Given the description of an element on the screen output the (x, y) to click on. 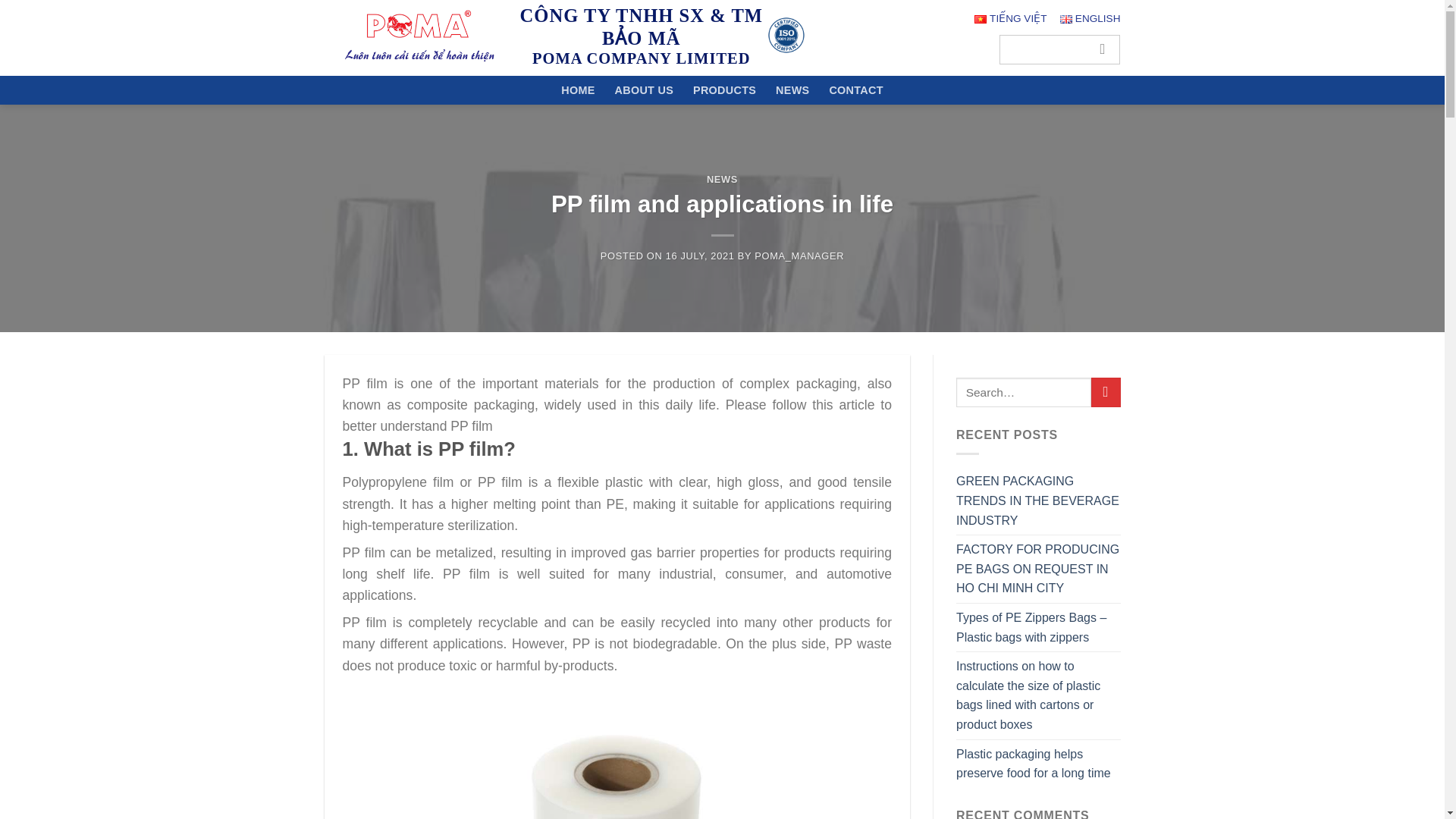
PRODUCTS (724, 90)
Search (1102, 49)
NEWS (722, 179)
ISO-9001-2015 (786, 35)
ENGLISH (1090, 18)
ABOUT US (643, 90)
CONTACT (855, 90)
HOME (577, 90)
16 JULY, 2021 (700, 255)
NEWS (792, 90)
